Given the description of an element on the screen output the (x, y) to click on. 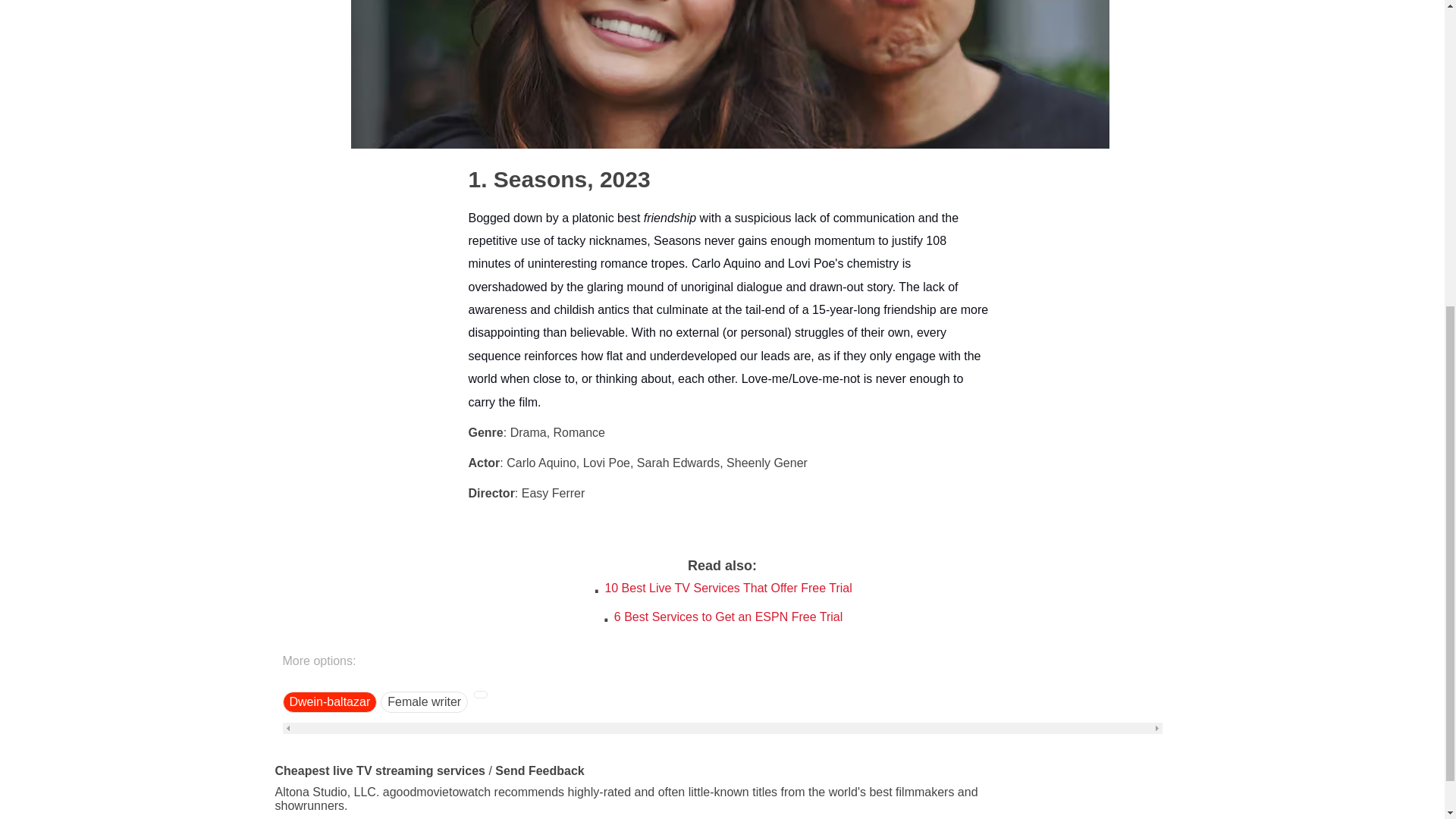
Seasons (528, 178)
